Given the description of an element on the screen output the (x, y) to click on. 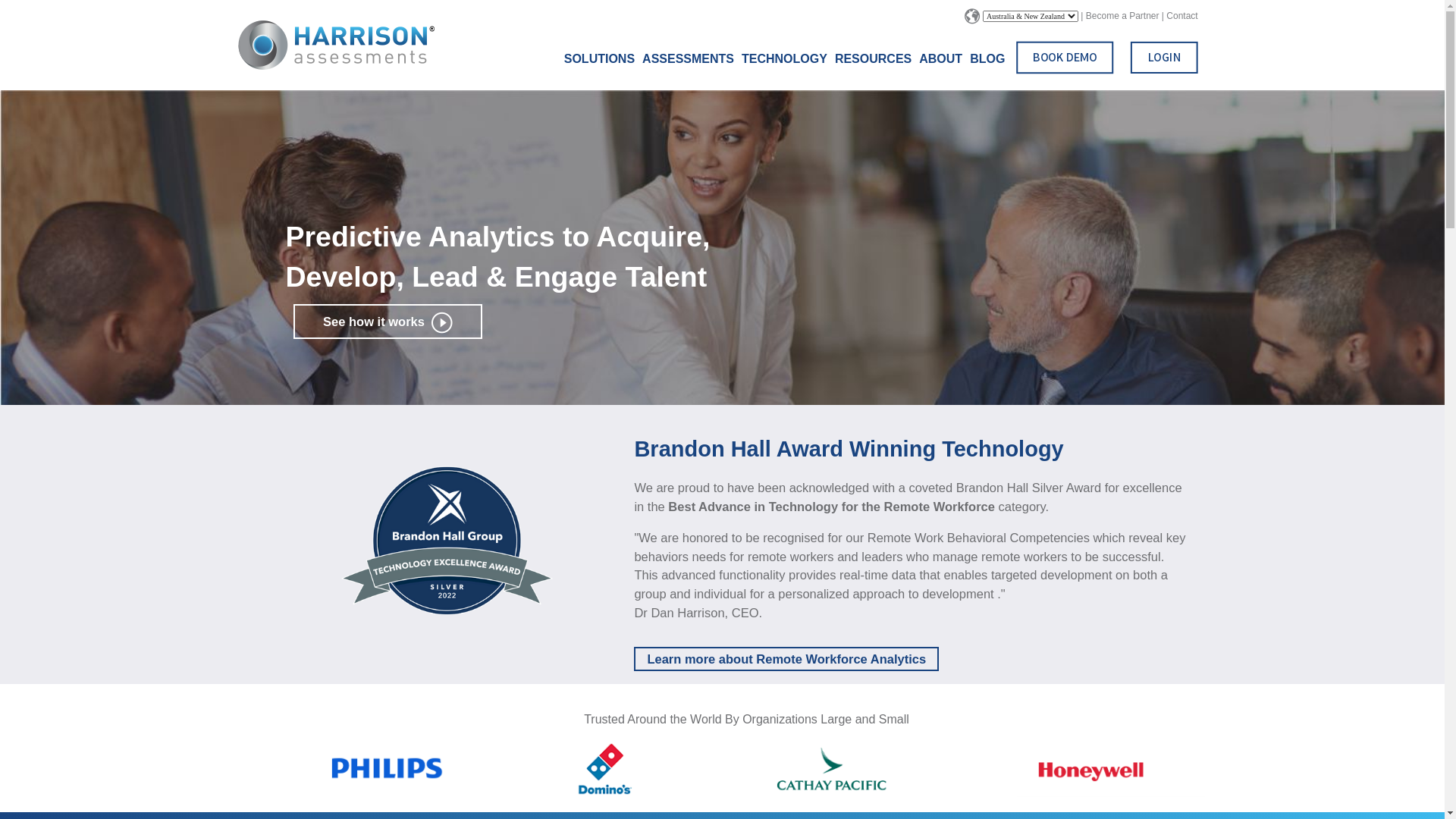
Become a Partner Element type: text (1122, 15)
Learn more about Remote Workforce Analytics Element type: text (785, 658)
BLOG Element type: text (986, 58)
Contact Element type: text (1181, 15)
